Given the description of an element on the screen output the (x, y) to click on. 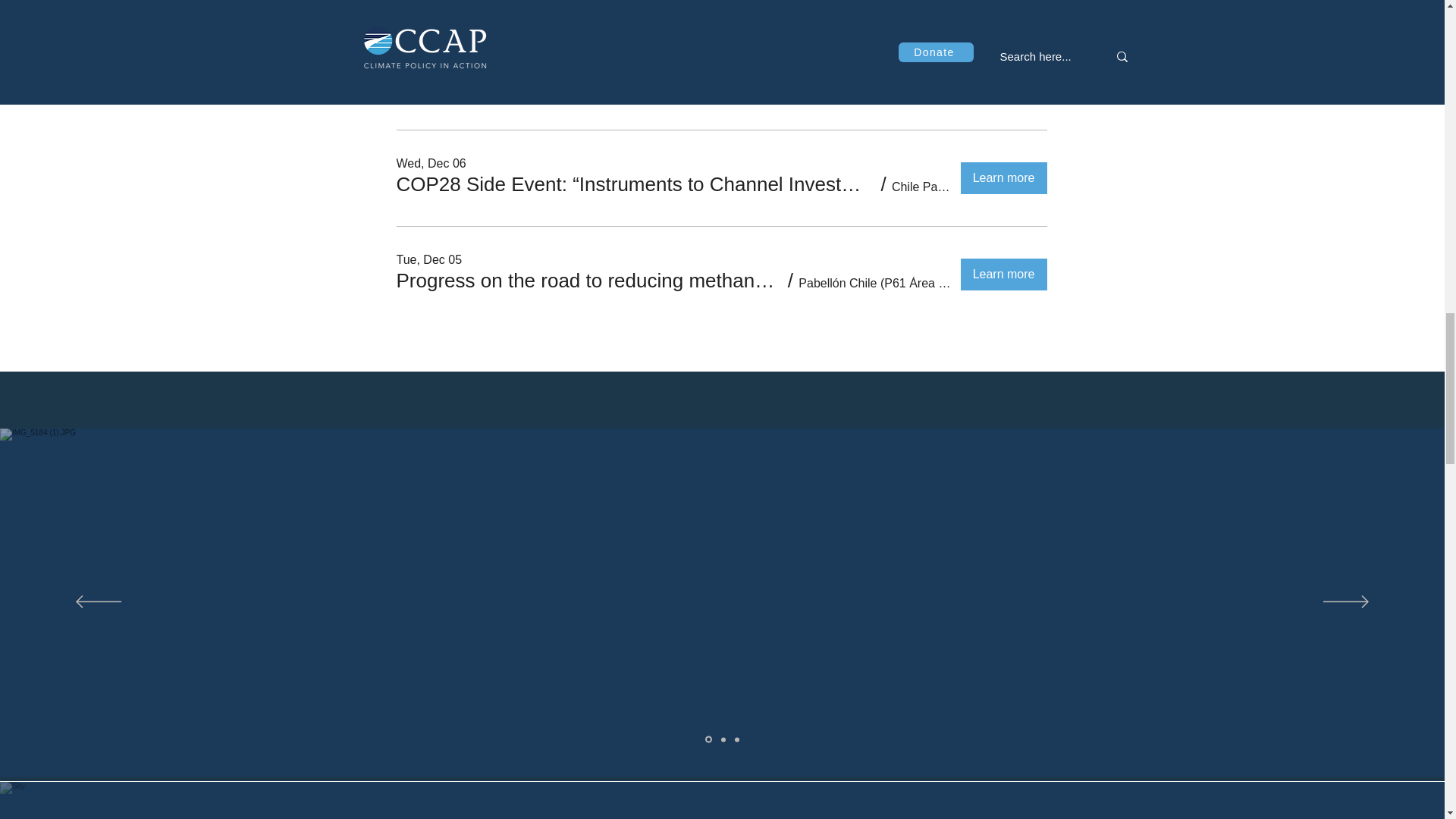
Learn more (1003, 81)
Learn more (1003, 0)
